Given the description of an element on the screen output the (x, y) to click on. 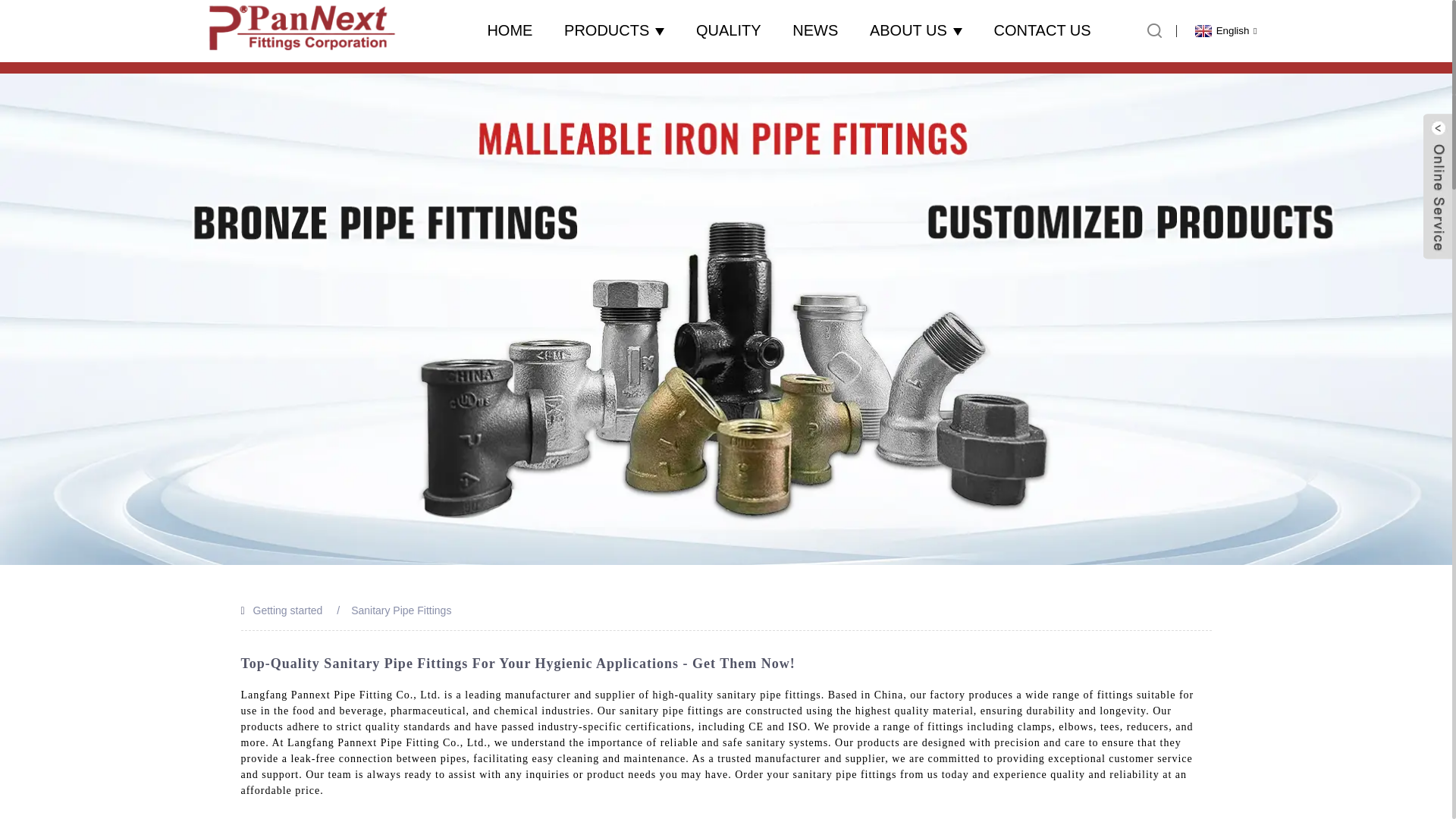
PRODUCTS (613, 30)
ABOUT US (915, 30)
QUALITY (728, 30)
English (1224, 30)
Getting started (288, 610)
CONTACT US (1041, 30)
Sanitary Pipe Fittings (400, 610)
